Given the description of an element on the screen output the (x, y) to click on. 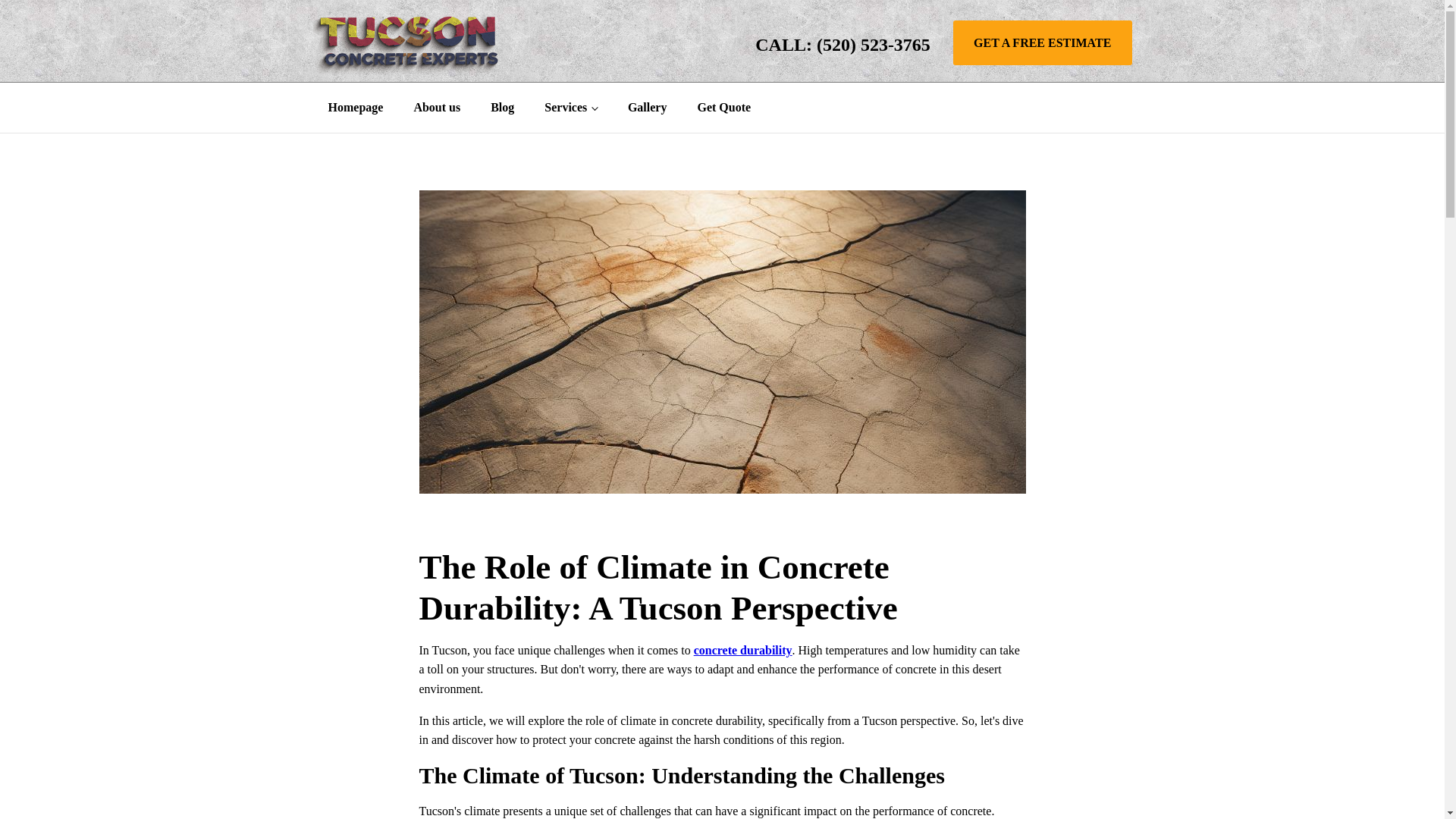
Blog (502, 107)
Gallery (647, 107)
concrete durability (743, 649)
Services (570, 107)
GET A FREE ESTIMATE (1042, 43)
Homepage (355, 107)
Get Quote (723, 107)
About us (436, 107)
